Given the description of an element on the screen output the (x, y) to click on. 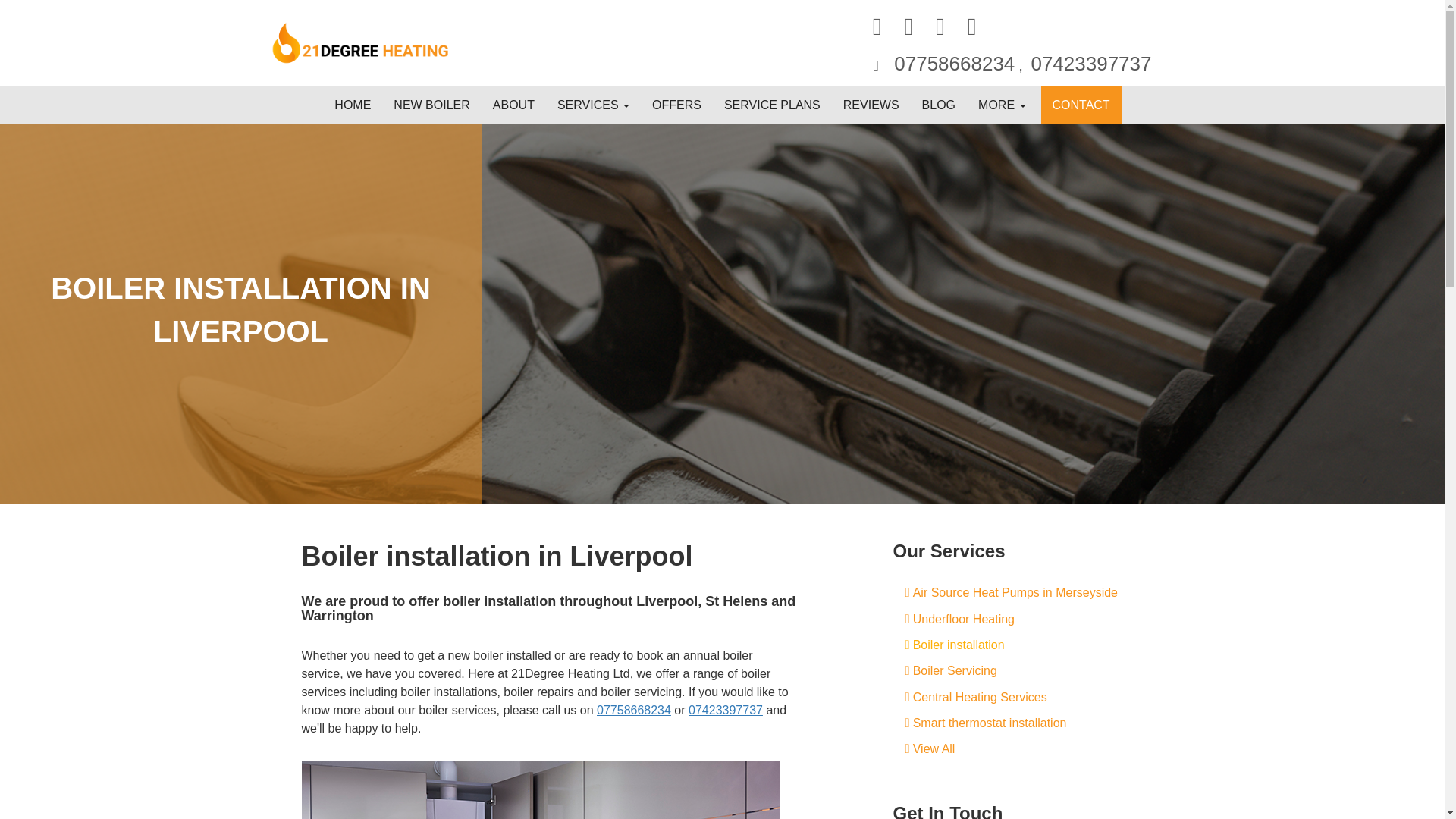
SERVICE PLANS (772, 105)
07758668234 (953, 63)
SERVICES (593, 105)
CONTACT (1081, 105)
NEW BOILER (430, 105)
BLOG (938, 105)
MORE (1001, 105)
REVIEWS (871, 105)
07423397737 (1090, 63)
OFFERS (676, 105)
